Given the description of an element on the screen output the (x, y) to click on. 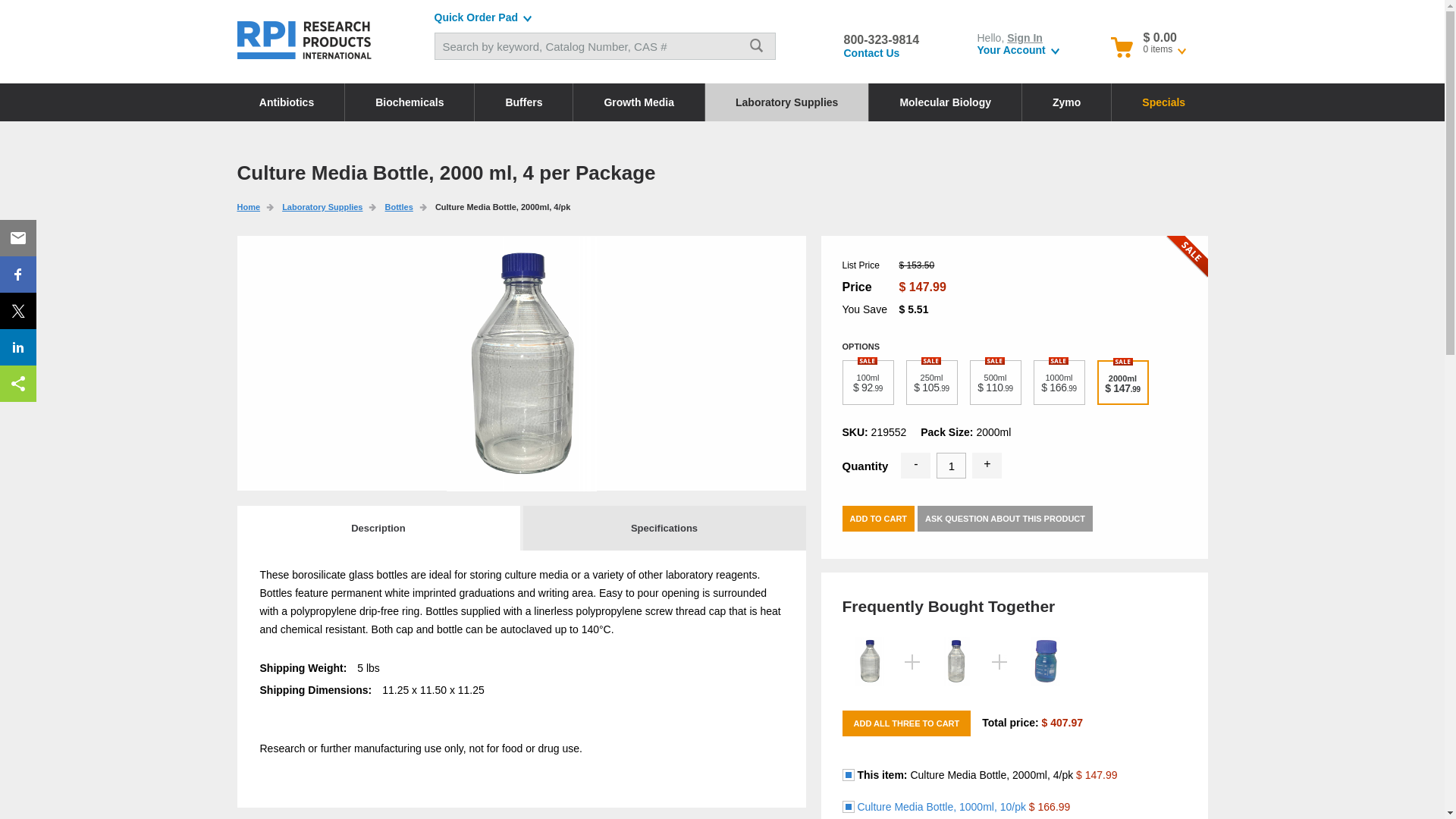
Contact Us (871, 52)
800-323-9814 (880, 39)
RPI (303, 39)
Biochemicals (409, 102)
RPI (303, 39)
search (755, 45)
Antibiotics (285, 102)
search (755, 45)
Antibiotics (285, 102)
Contact Us (871, 52)
Sign In (1024, 37)
Sign In (1024, 37)
1 (951, 465)
Biochemicals (409, 102)
